Given the description of an element on the screen output the (x, y) to click on. 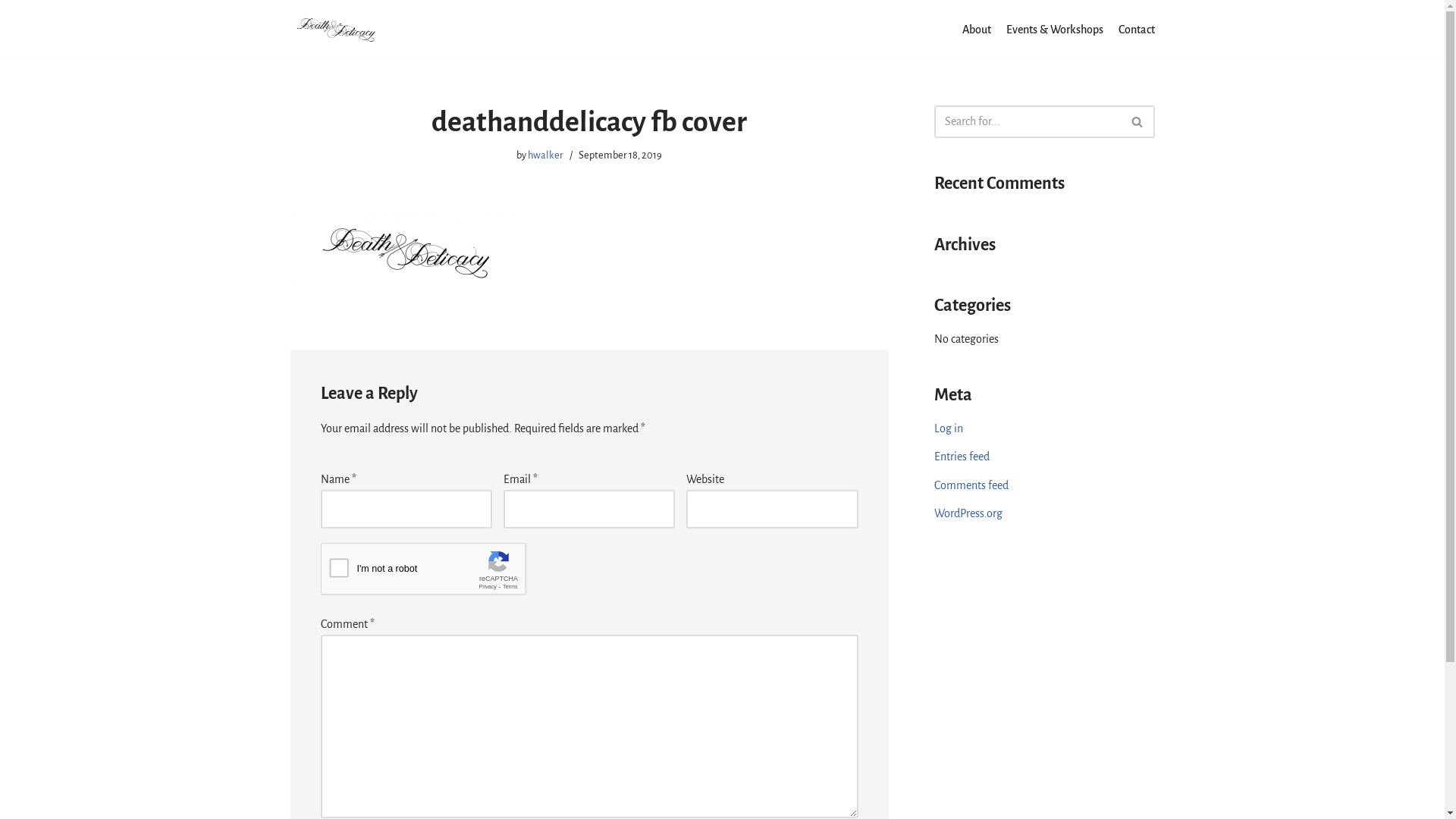
Death & Delicacy Element type: hover (334, 29)
Log in Element type: text (948, 428)
Comments feed Element type: text (971, 485)
reCAPTCHA Element type: hover (435, 572)
Entries feed Element type: text (961, 456)
Events & Workshops Element type: text (1053, 30)
WordPress.org Element type: text (968, 513)
Contact Element type: text (1135, 30)
About Element type: text (975, 30)
Skip to content Element type: text (11, 31)
hwalker Element type: text (545, 154)
